Given the description of an element on the screen output the (x, y) to click on. 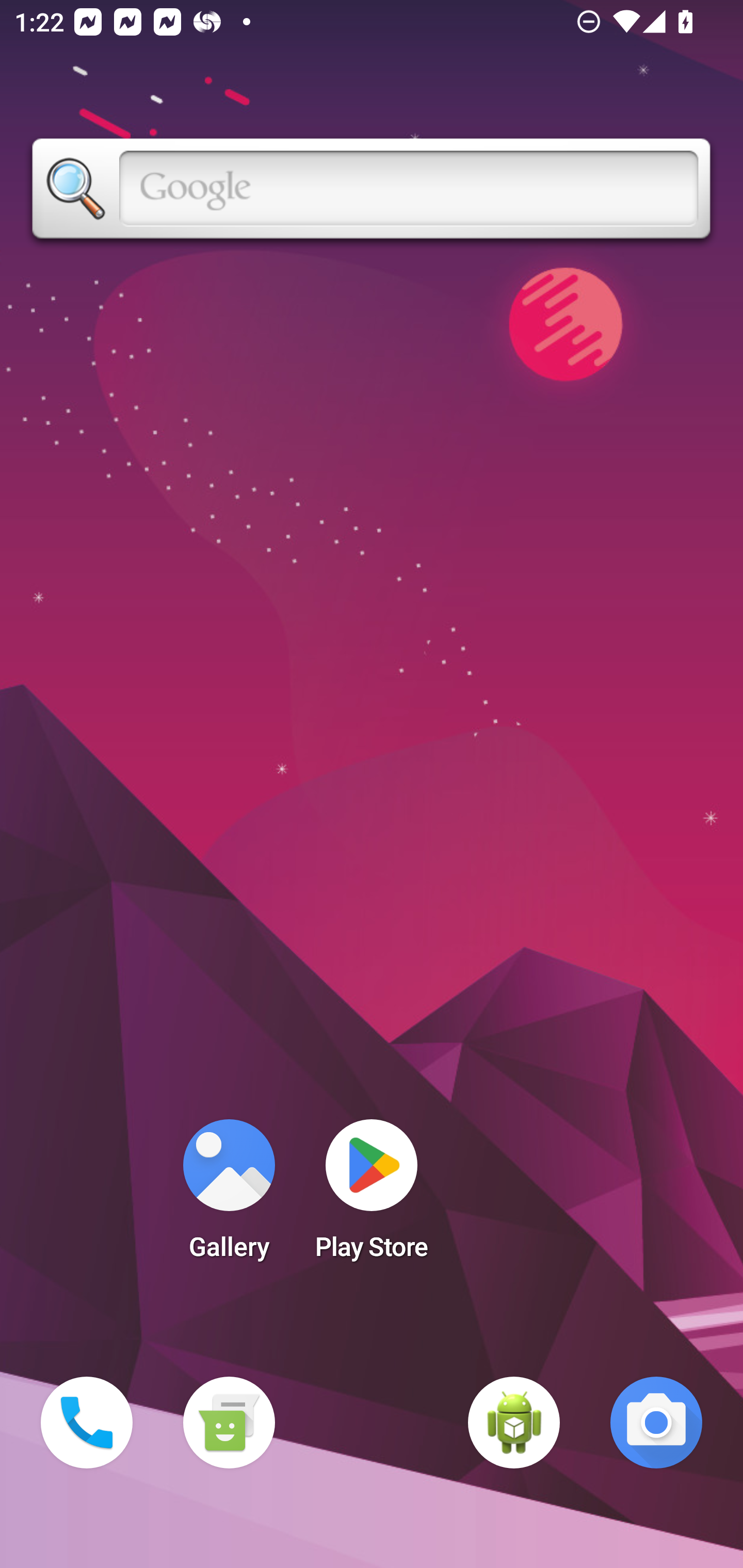
Gallery (228, 1195)
Play Store (371, 1195)
Phone (86, 1422)
Messaging (228, 1422)
WebView Browser Tester (513, 1422)
Camera (656, 1422)
